Given the description of an element on the screen output the (x, y) to click on. 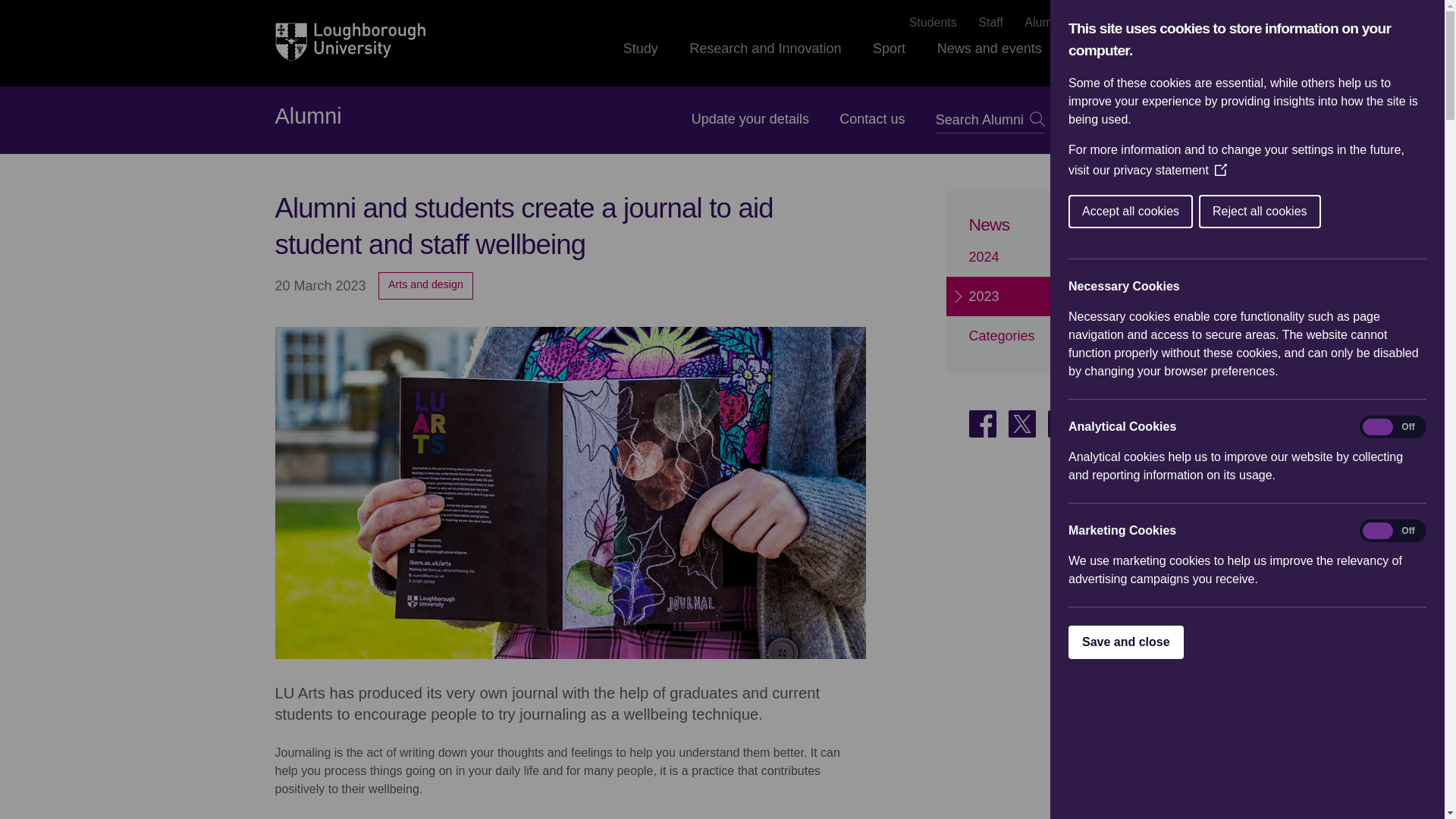
Staff (990, 22)
Toggle global search (1160, 48)
MENU (1122, 119)
Save and close (1221, 642)
Accept all cookies (1328, 211)
Alumni (307, 116)
Jobs (1096, 22)
Research and Innovation (764, 61)
Contact us (872, 119)
News and events (989, 61)
Loughborough University (350, 41)
Alumni (1043, 22)
Go (1037, 118)
Update your details (750, 119)
Students (932, 22)
